Given the description of an element on the screen output the (x, y) to click on. 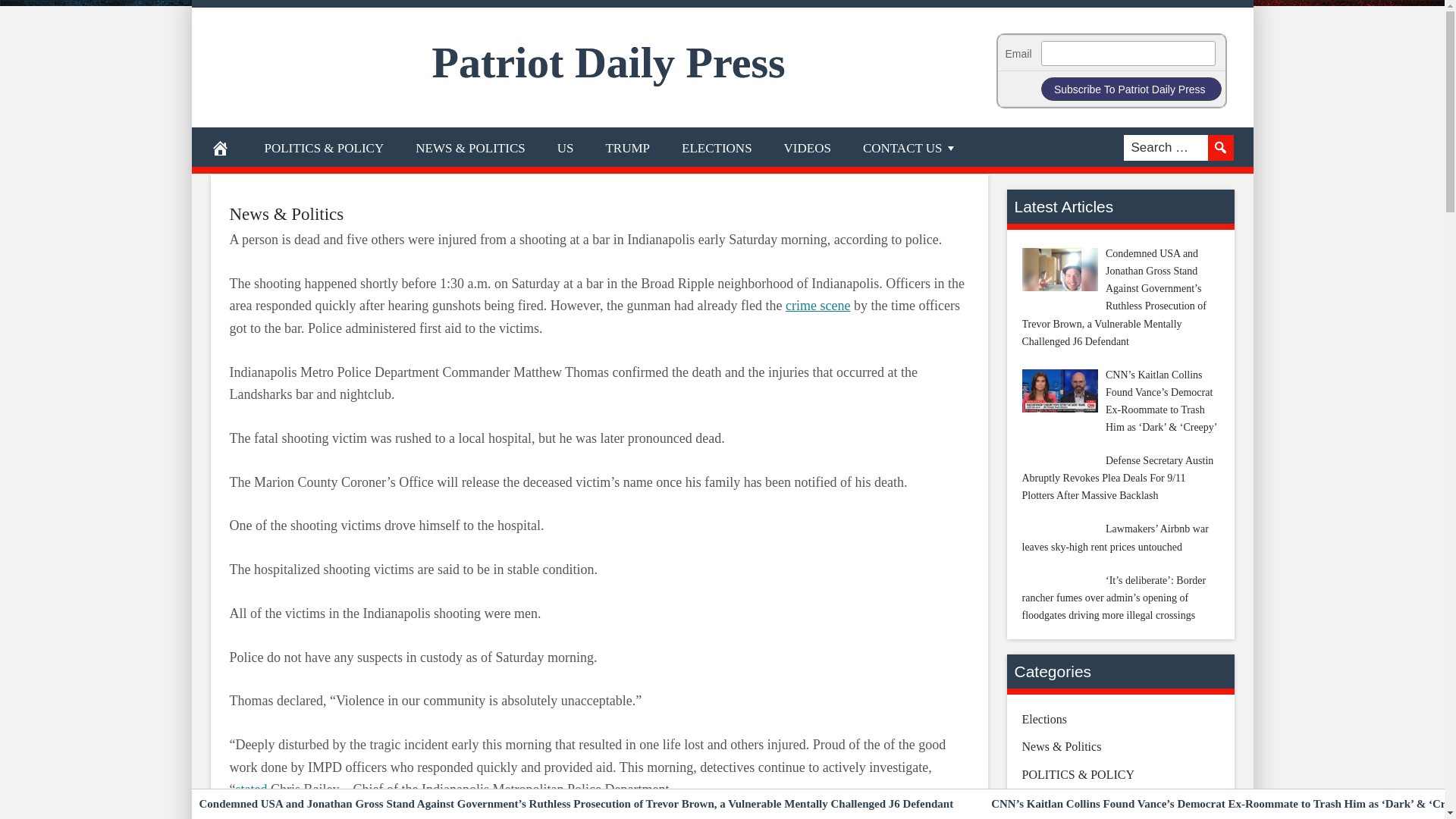
TRUMP (627, 147)
Subscribe To Patriot Daily Press  (1131, 88)
CONTACT US (910, 147)
Patriot Daily Press (609, 61)
ELECTIONS (716, 147)
VIDEOS (807, 147)
US (565, 147)
Subscribe To Patriot Daily Press  (1131, 88)
